Given the description of an element on the screen output the (x, y) to click on. 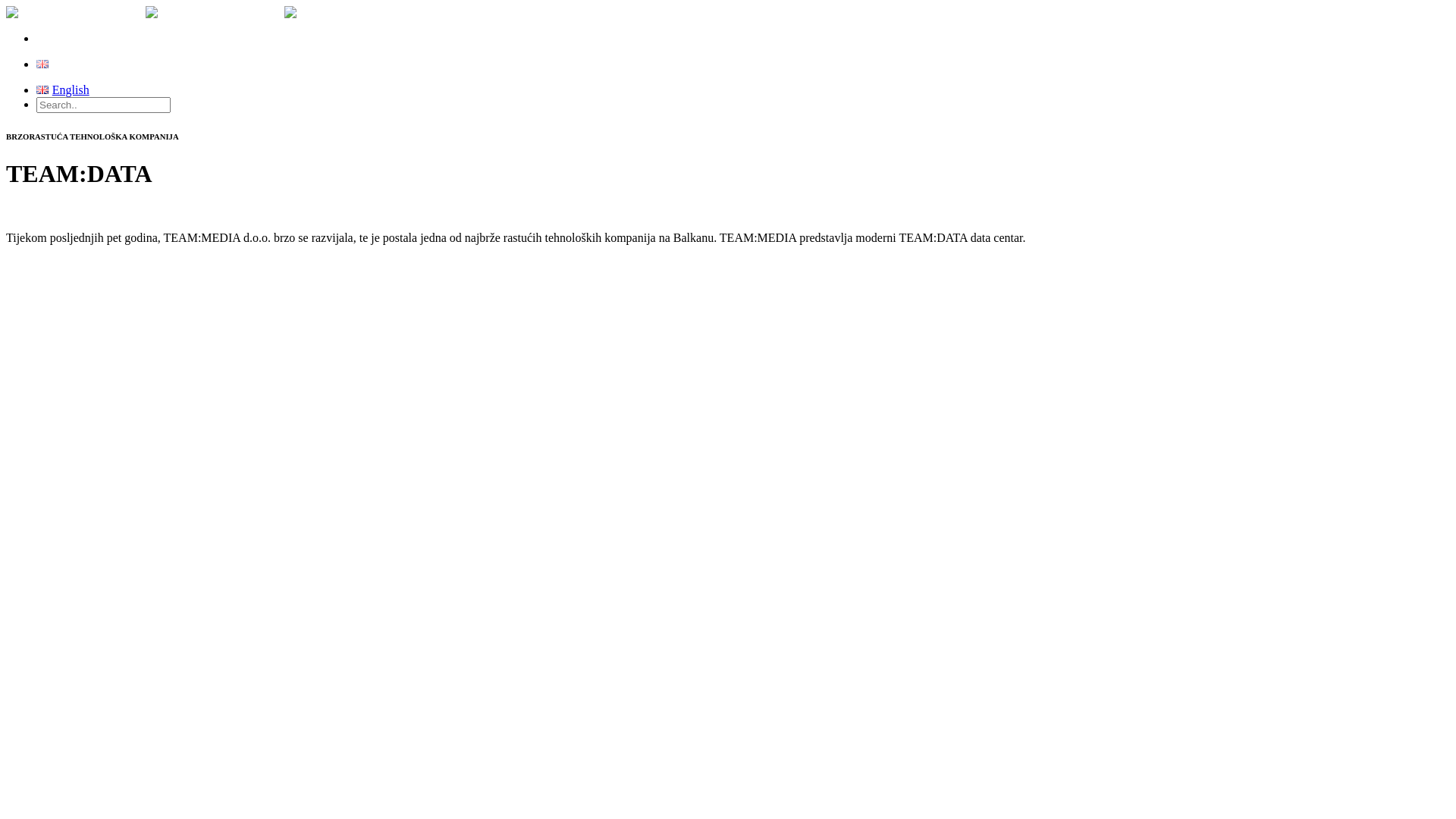
English Element type: hover (42, 63)
English Element type: text (62, 63)
English Element type: hover (42, 89)
English Element type: text (62, 89)
